Given the description of an element on the screen output the (x, y) to click on. 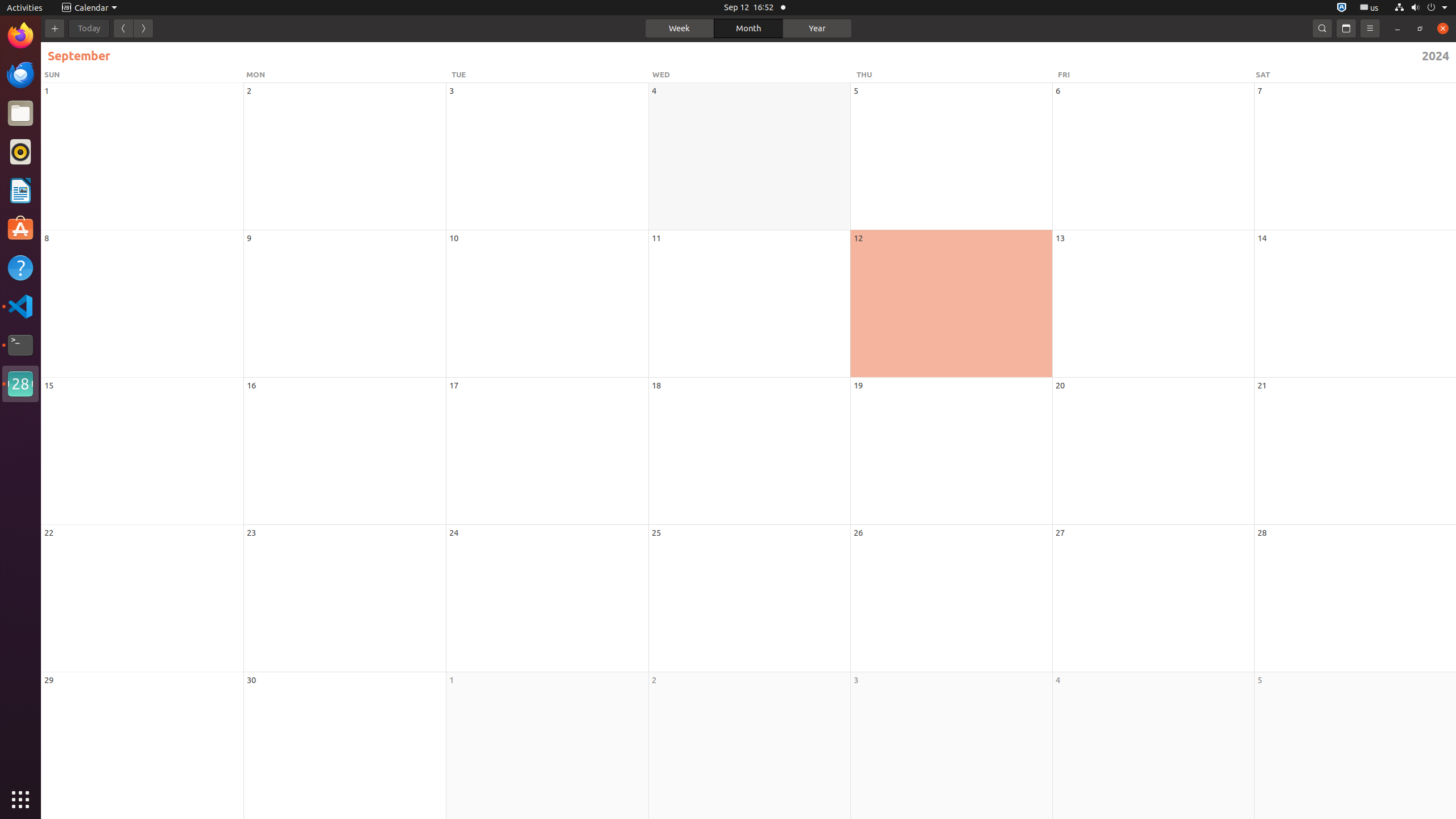
TUE Element type: label (549, 74)
Firefox Web Browser Element type: push-button (20, 35)
FRI Element type: label (1154, 74)
